Given the description of an element on the screen output the (x, y) to click on. 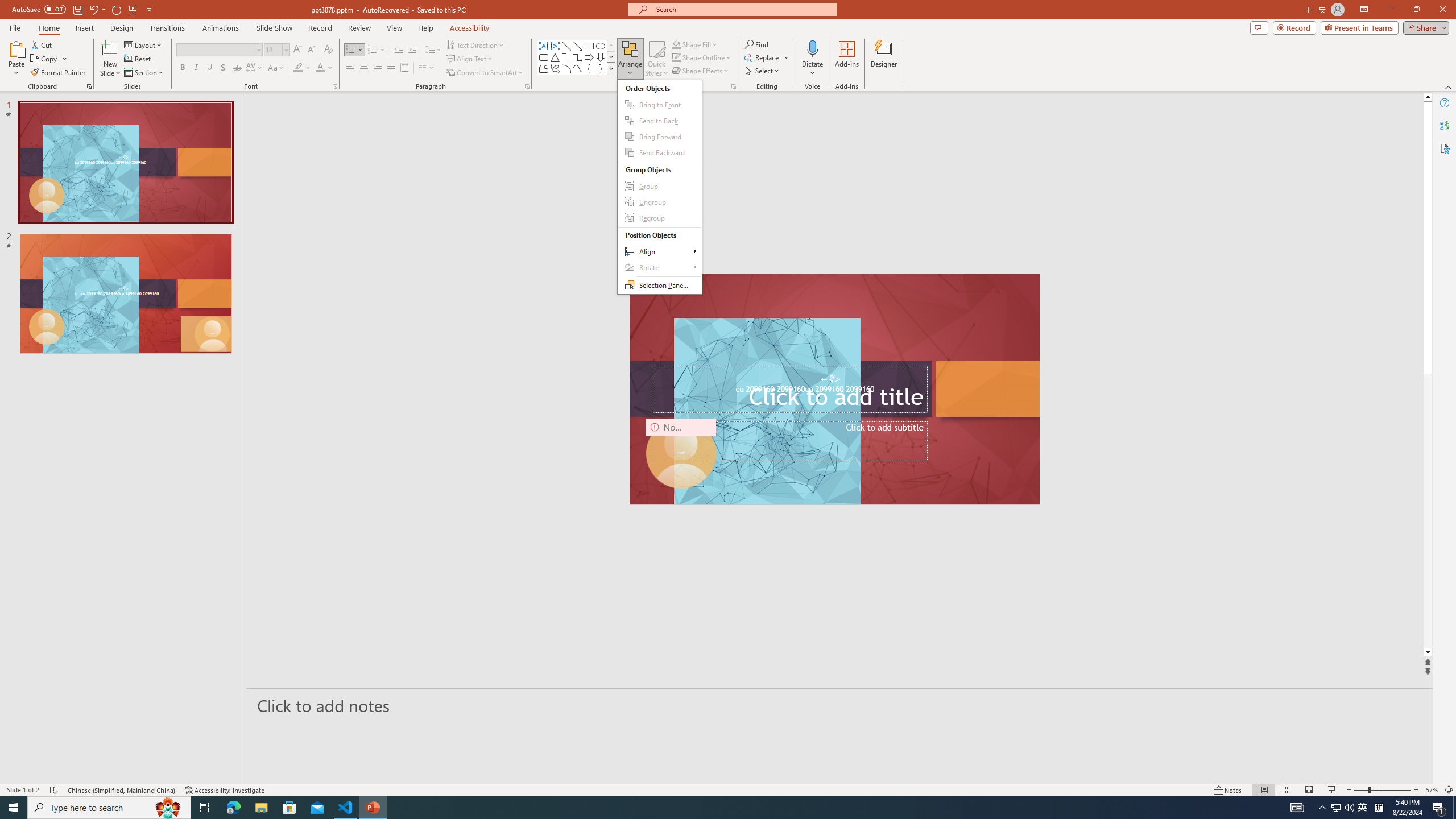
Zoom 57% (1431, 790)
Layout (143, 44)
Microsoft Edge (233, 807)
Convert to SmartArt (485, 72)
Shadow (223, 67)
Oval (600, 45)
Microsoft Store (289, 807)
Text Box (543, 45)
Arrange (659, 186)
Change Case (276, 67)
An abstract genetic concept (767, 410)
